Given the description of an element on the screen output the (x, y) to click on. 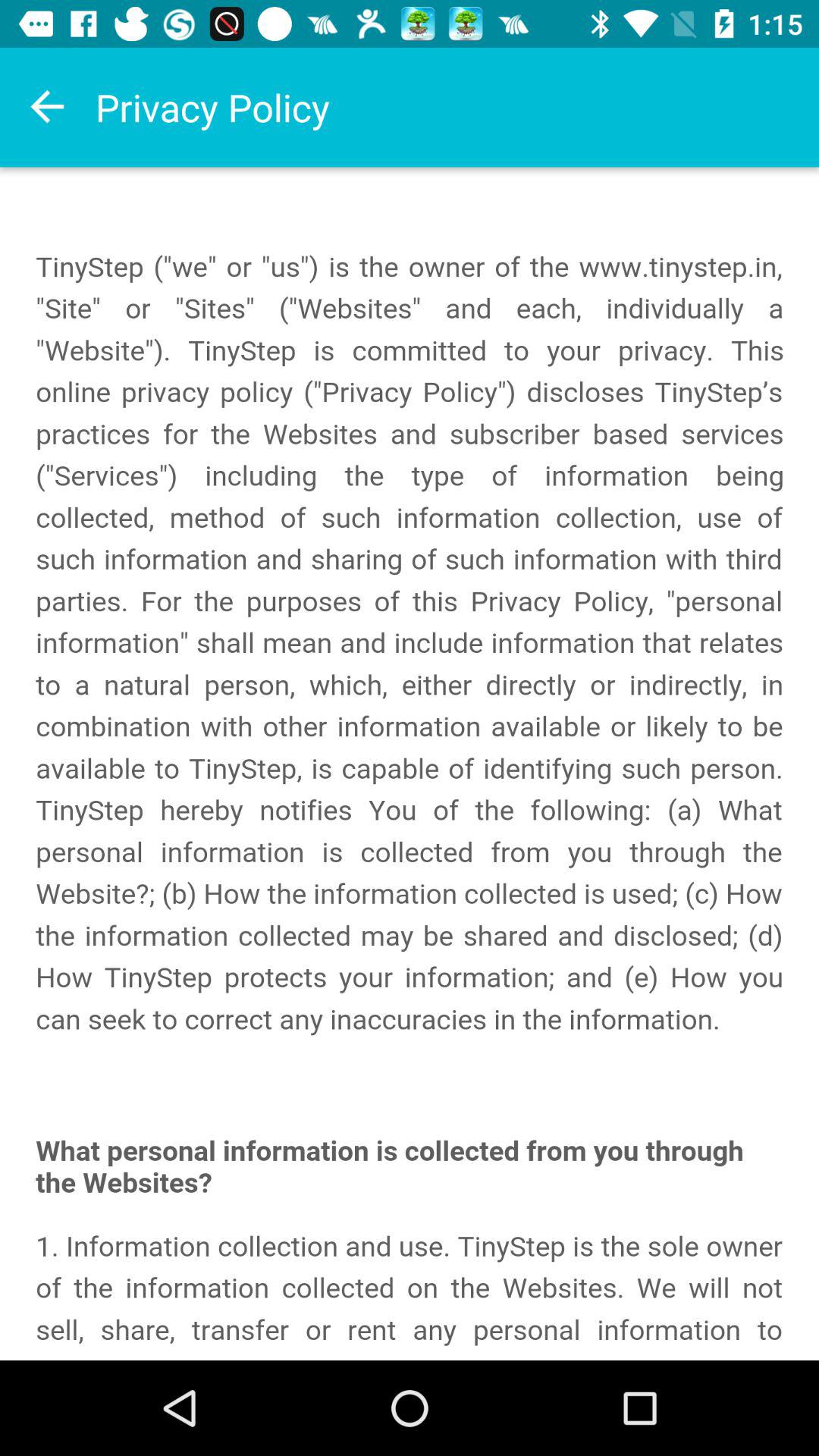
previous page (47, 107)
